Given the description of an element on the screen output the (x, y) to click on. 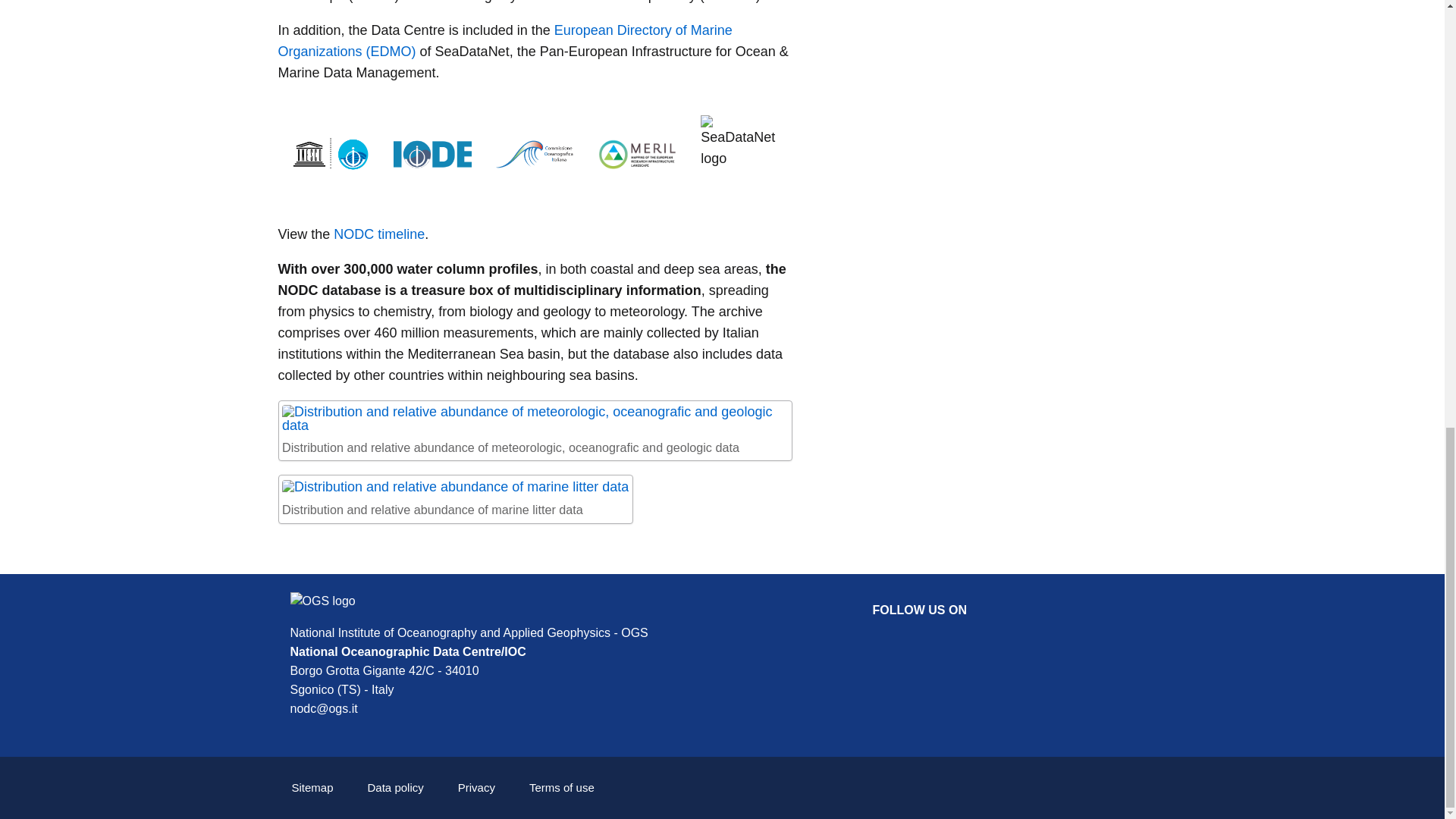
Privacy (476, 787)
Terms of use (561, 787)
Data policy (395, 787)
Sitemap (312, 787)
